Given the description of an element on the screen output the (x, y) to click on. 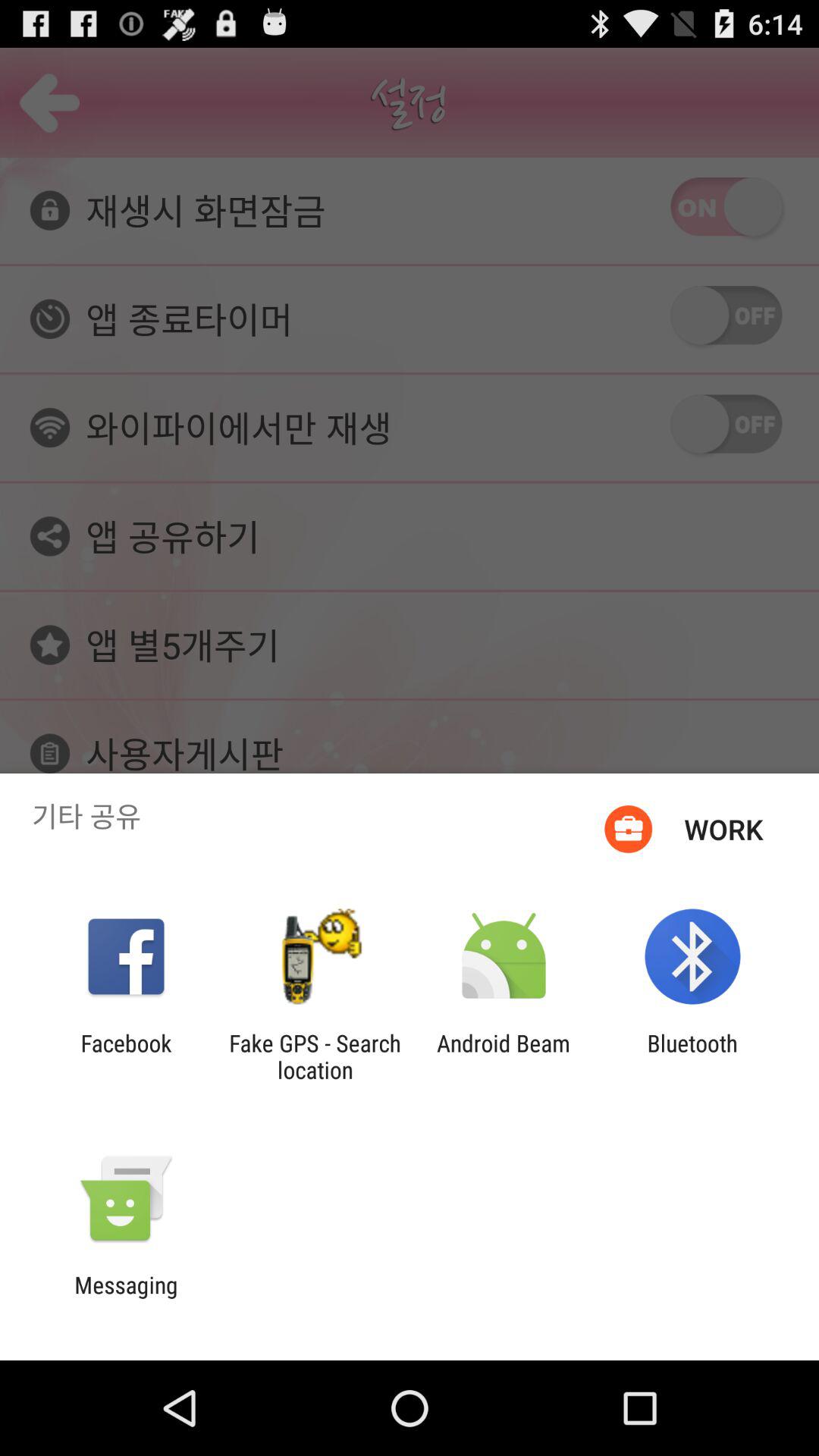
click the bluetooth app (692, 1056)
